Given the description of an element on the screen output the (x, y) to click on. 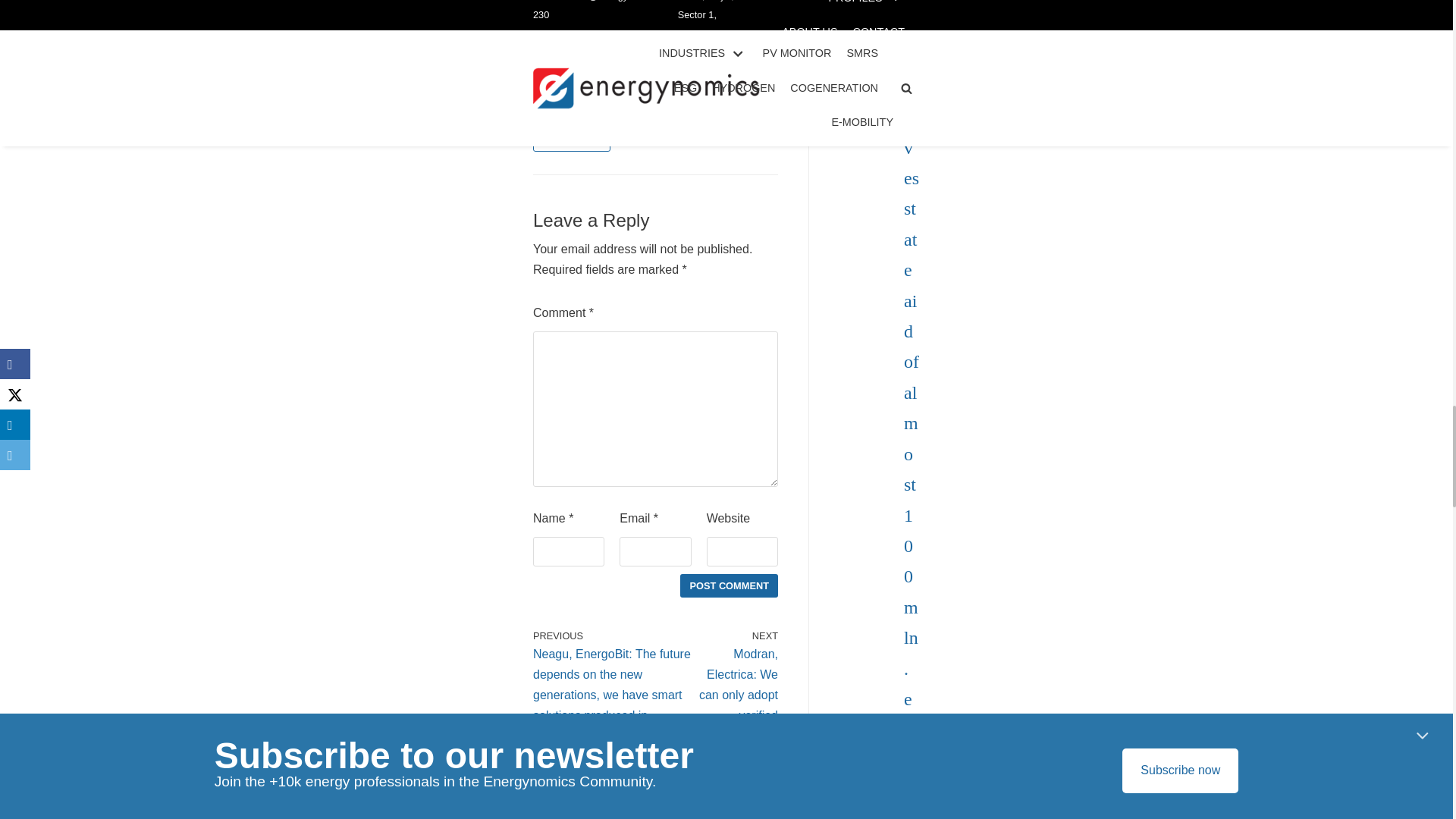
Energy Strategy Summit (596, 81)
Energy Strategy Summit 2019 (609, 110)
Enevo Group (571, 140)
Post Comment (728, 585)
